Given the description of an element on the screen output the (x, y) to click on. 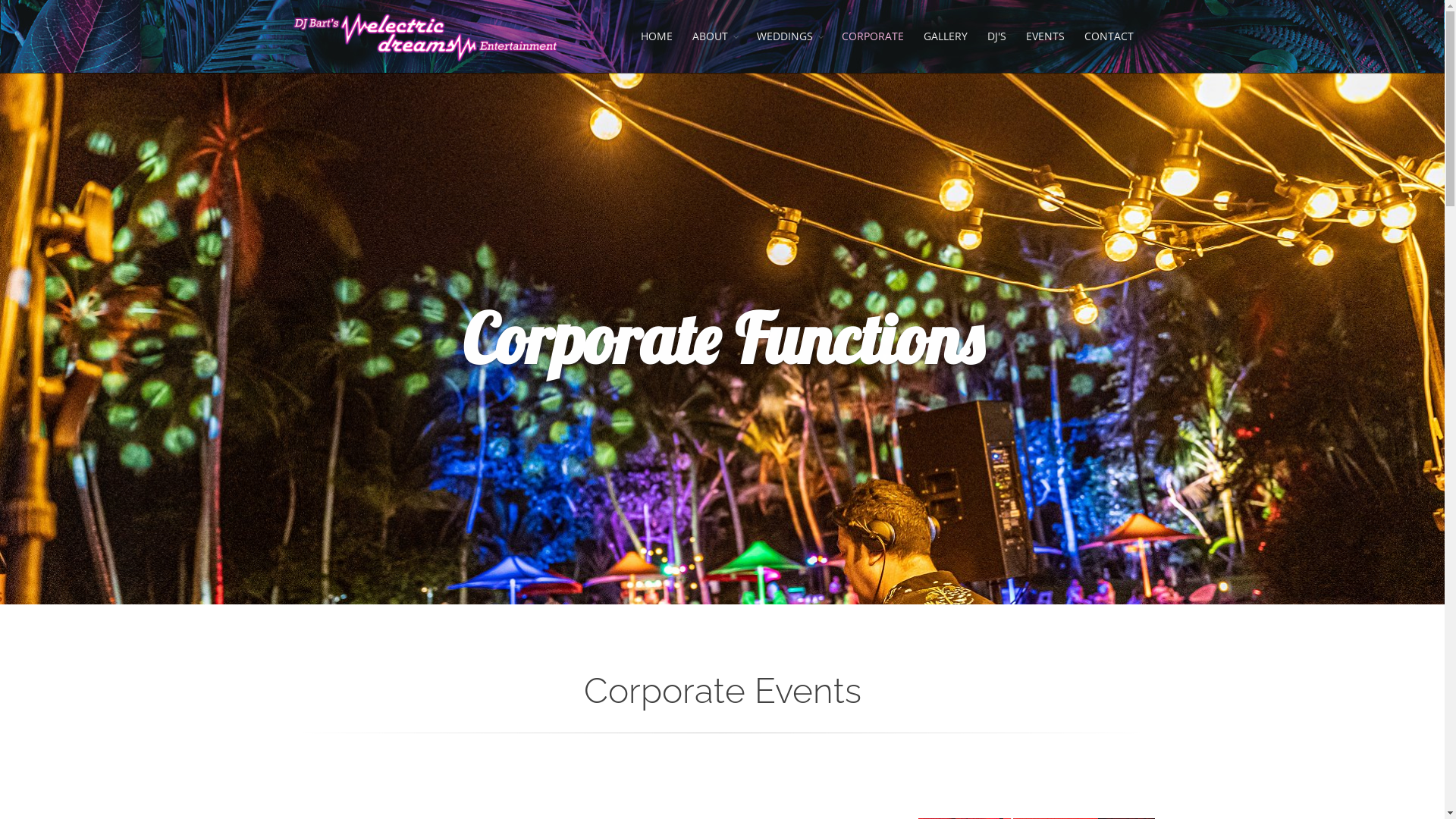
ABOUT Element type: text (714, 36)
WEDDINGS Element type: text (788, 36)
GALLERY Element type: text (944, 36)
CORPORATE Element type: text (872, 36)
EVENTS Element type: text (1045, 36)
HOME Element type: text (656, 36)
DJ'S Element type: text (995, 36)
CONTACT Element type: text (1107, 36)
